Given the description of an element on the screen output the (x, y) to click on. 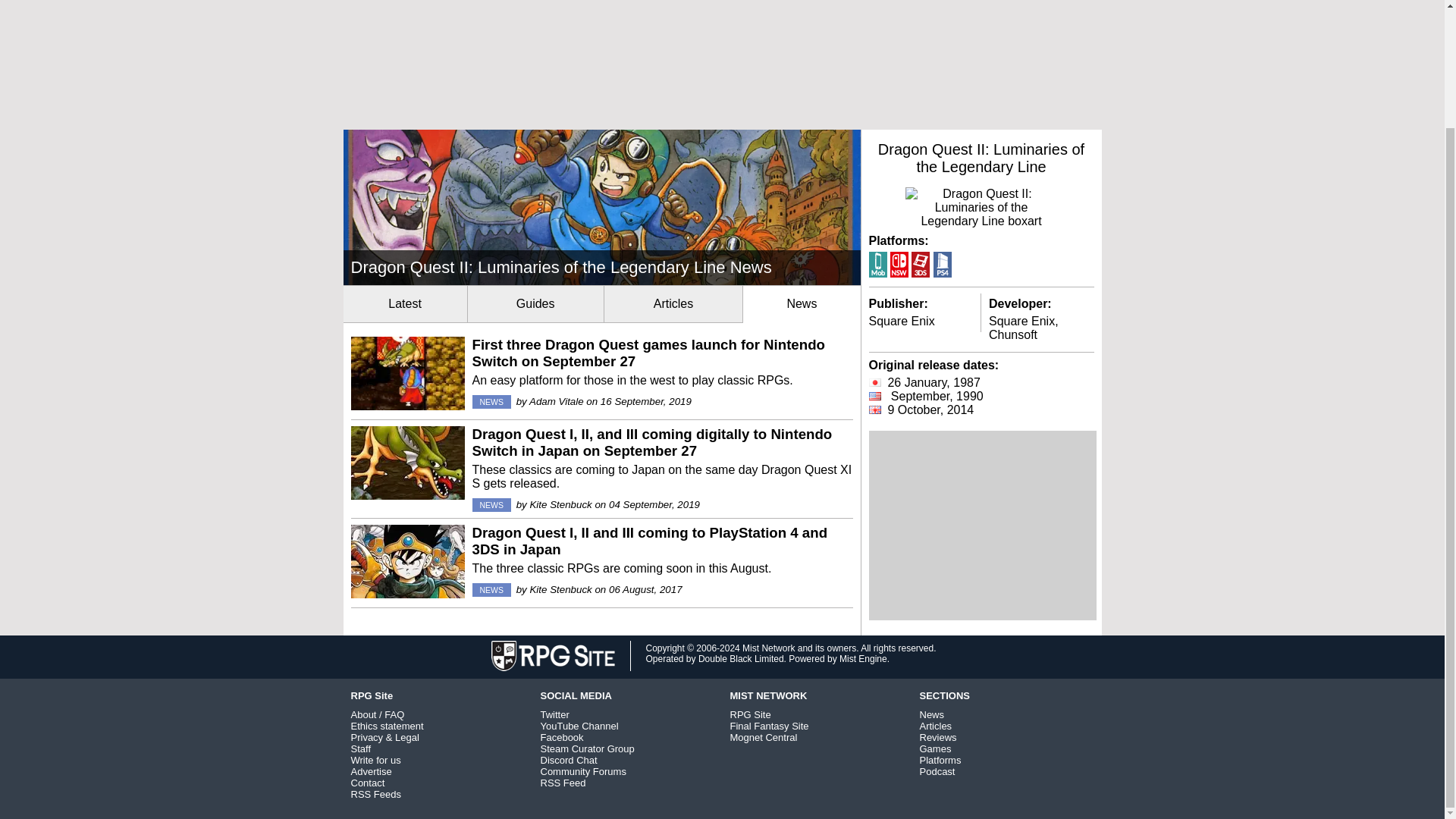
NEWS (491, 401)
Latest (403, 303)
Adam Vitale (556, 401)
Guides (535, 303)
Nintendo Switch (898, 264)
Mobile (877, 264)
Kite Stenbuck (560, 589)
Dragon Quest II: Luminaries of the Legendary Line (980, 157)
NEWS (491, 590)
News (801, 303)
Articles (673, 303)
PlayStation 4 (942, 264)
Kite Stenbuck (560, 504)
